Given the description of an element on the screen output the (x, y) to click on. 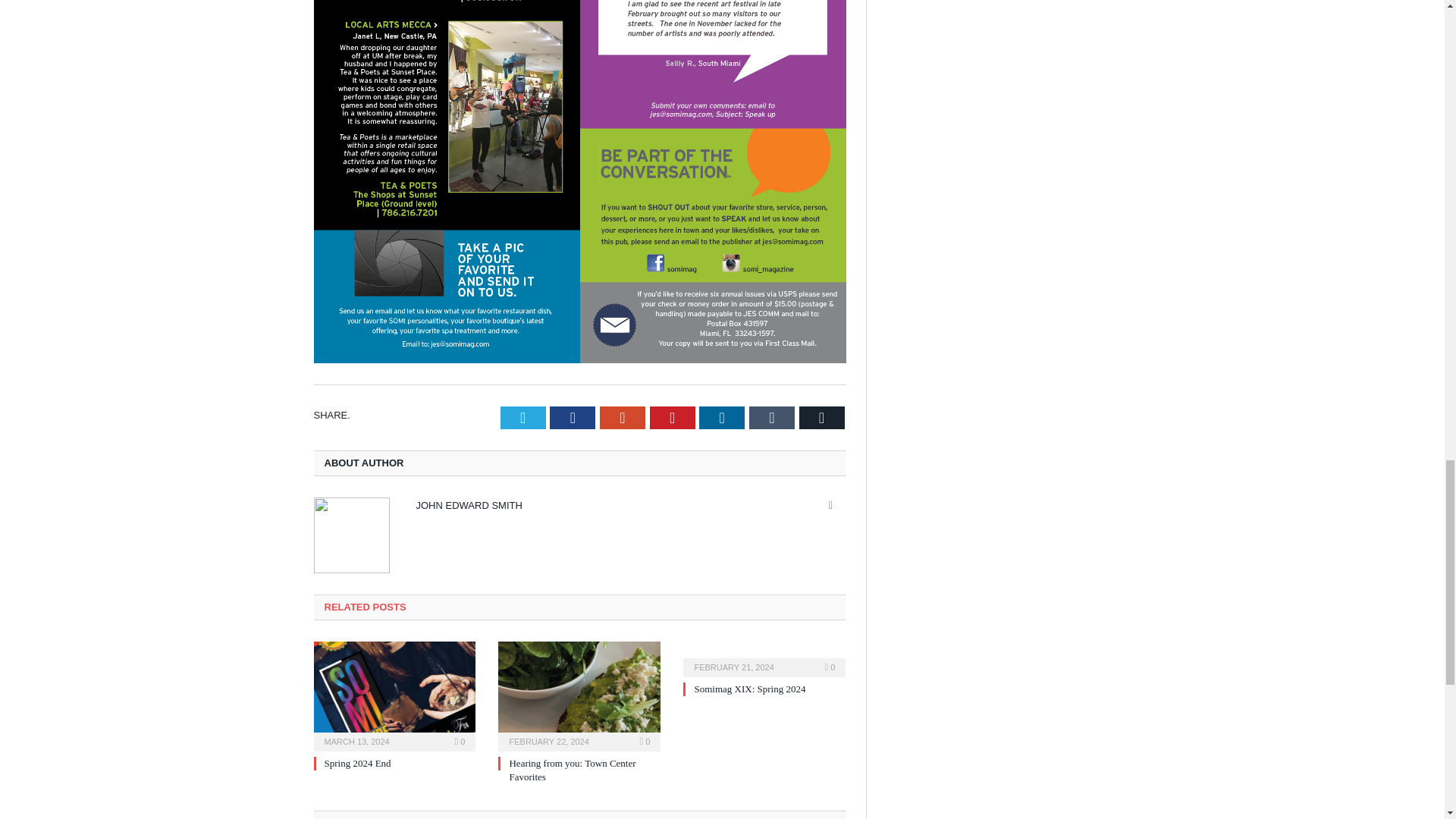
Share on Facebook (572, 417)
Tweet It (523, 417)
Posts by John Edward Smith (467, 505)
Website (831, 505)
Share on Tumblr (771, 417)
Hearing from you: Town Center Favorites (579, 694)
Share on LinkedIn (721, 417)
Share on Pinterest (672, 417)
Share via Email (821, 417)
Spring 2024 End (395, 694)
